Given the description of an element on the screen output the (x, y) to click on. 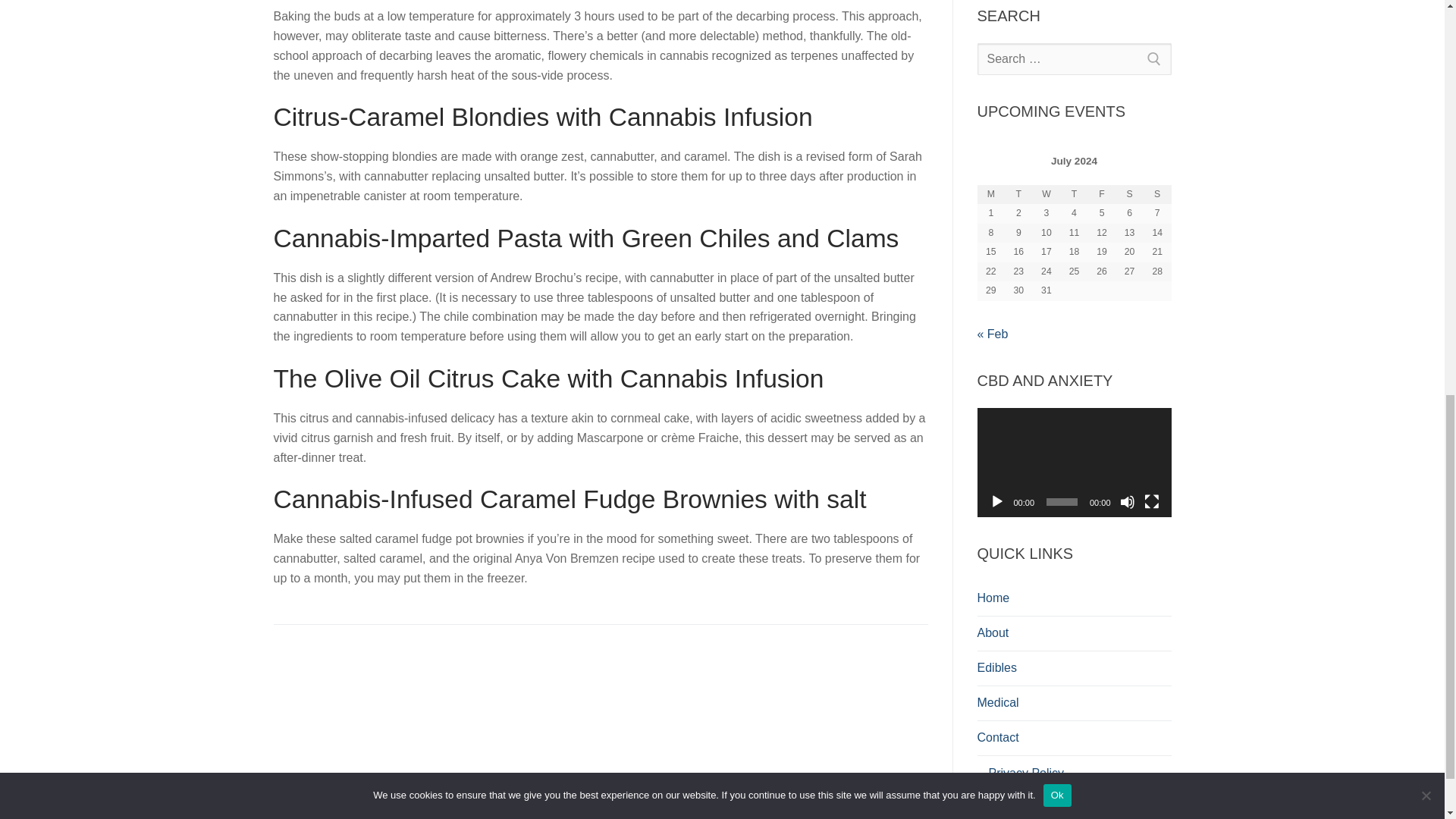
Monday (990, 194)
Home (1073, 598)
Search for: (1073, 59)
